Given the description of an element on the screen output the (x, y) to click on. 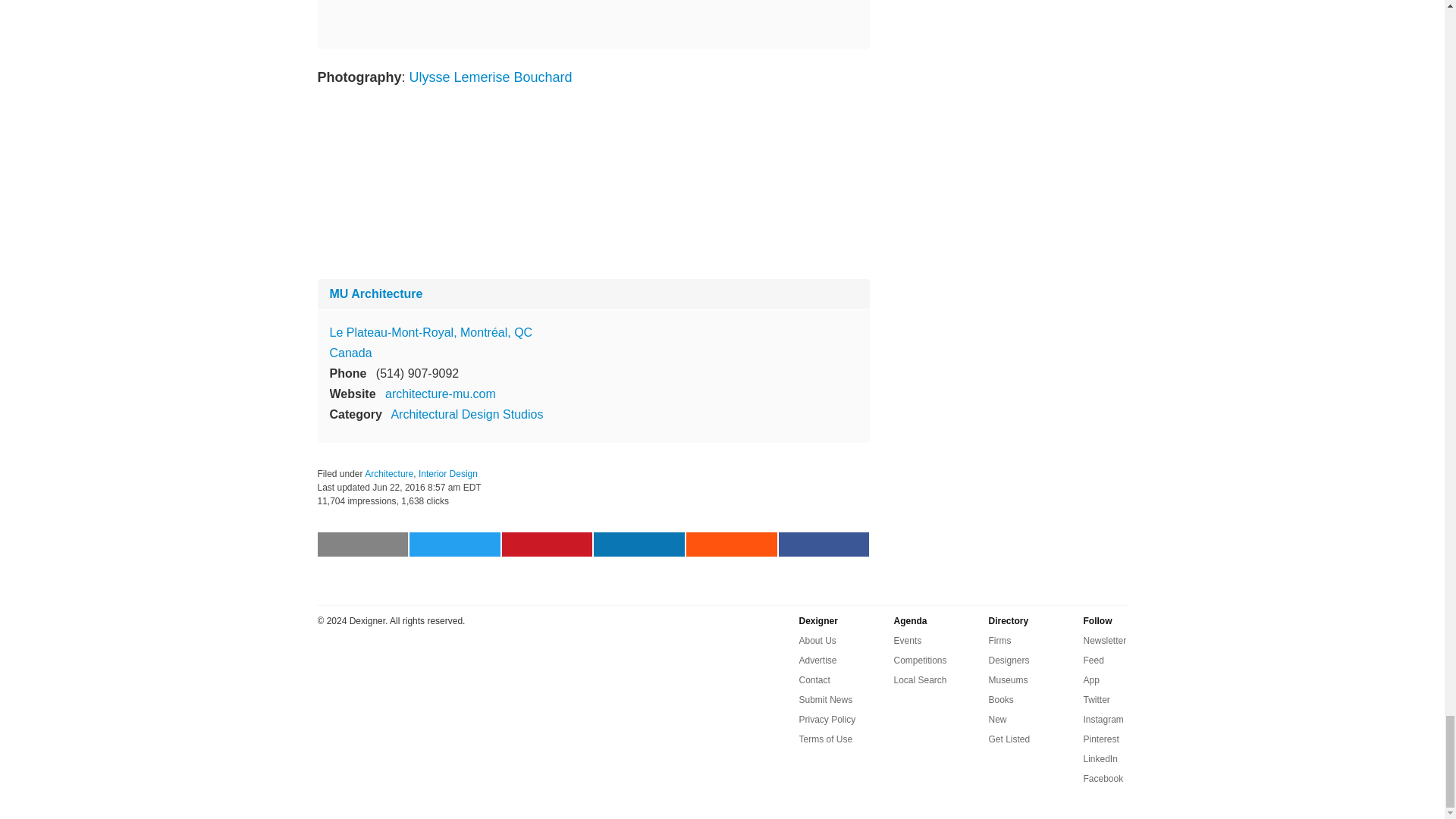
Museums (1007, 679)
Advertise (818, 660)
architecture-mu.com (440, 393)
Competitions (919, 660)
Get Listed (1009, 739)
View on Map (430, 332)
Designers (1008, 660)
About Us (817, 640)
Events (907, 640)
Architecture (389, 473)
Ulysse Lemerise Bouchard (497, 77)
Contact (814, 679)
Firms (999, 640)
Books (1000, 700)
Architectural Design Studios (466, 413)
